Given the description of an element on the screen output the (x, y) to click on. 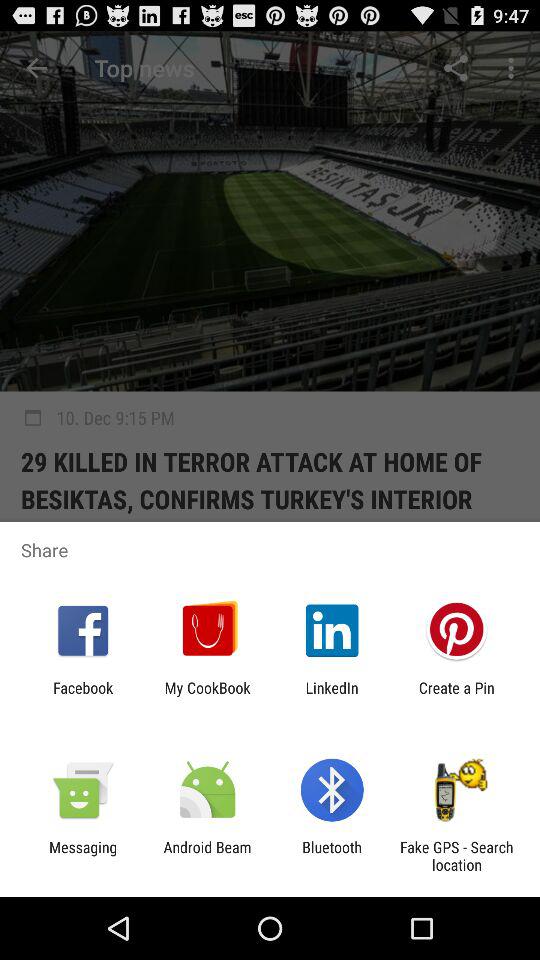
click the app to the right of linkedin icon (456, 696)
